Given the description of an element on the screen output the (x, y) to click on. 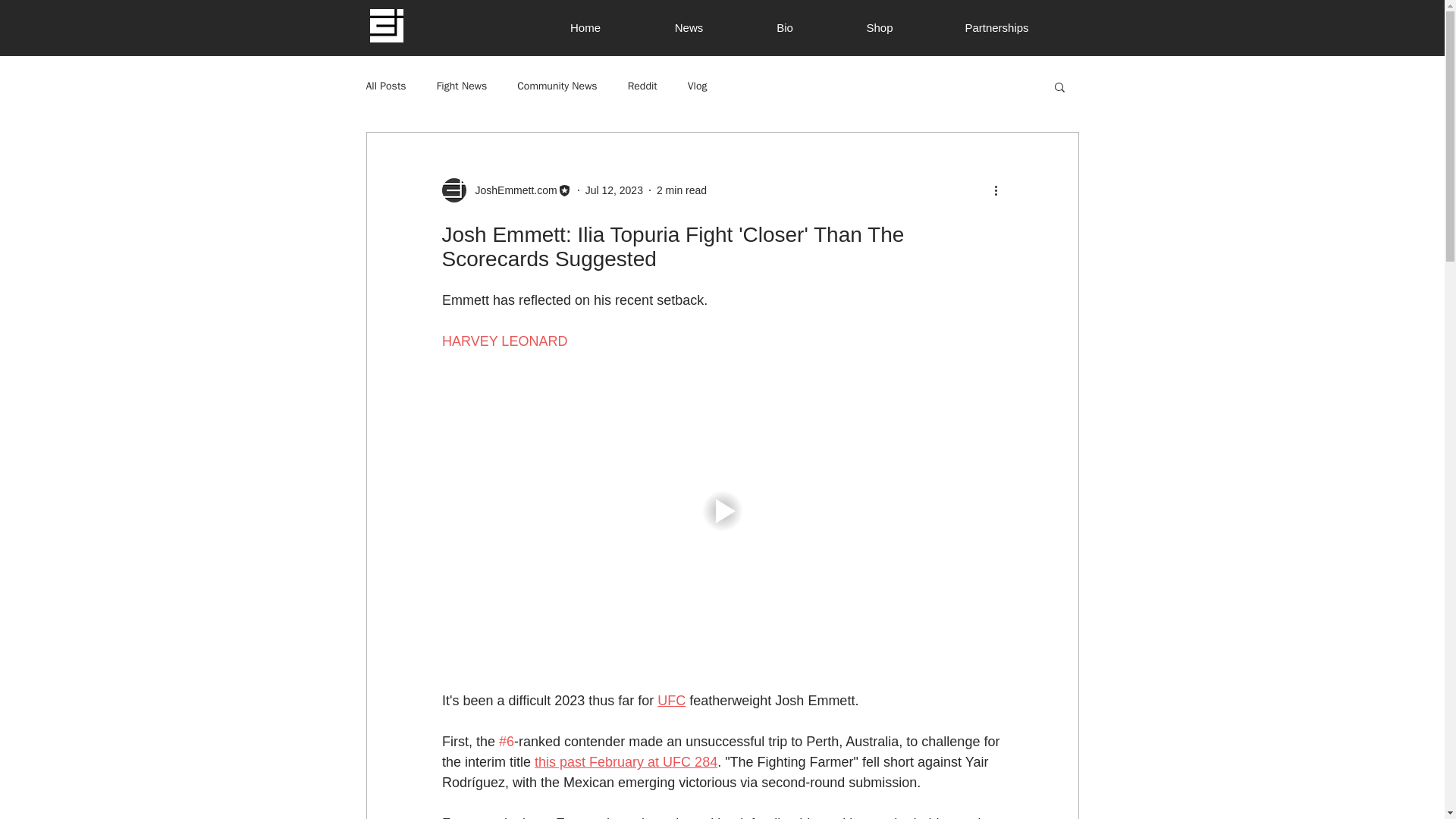
News (689, 27)
Home (584, 27)
Community News (556, 86)
UFC (671, 700)
2 min read (681, 189)
Jul 12, 2023 (614, 189)
Fight News (461, 86)
Shop (878, 27)
HARVEY LEONARD (503, 340)
Reddit (642, 86)
